Given the description of an element on the screen output the (x, y) to click on. 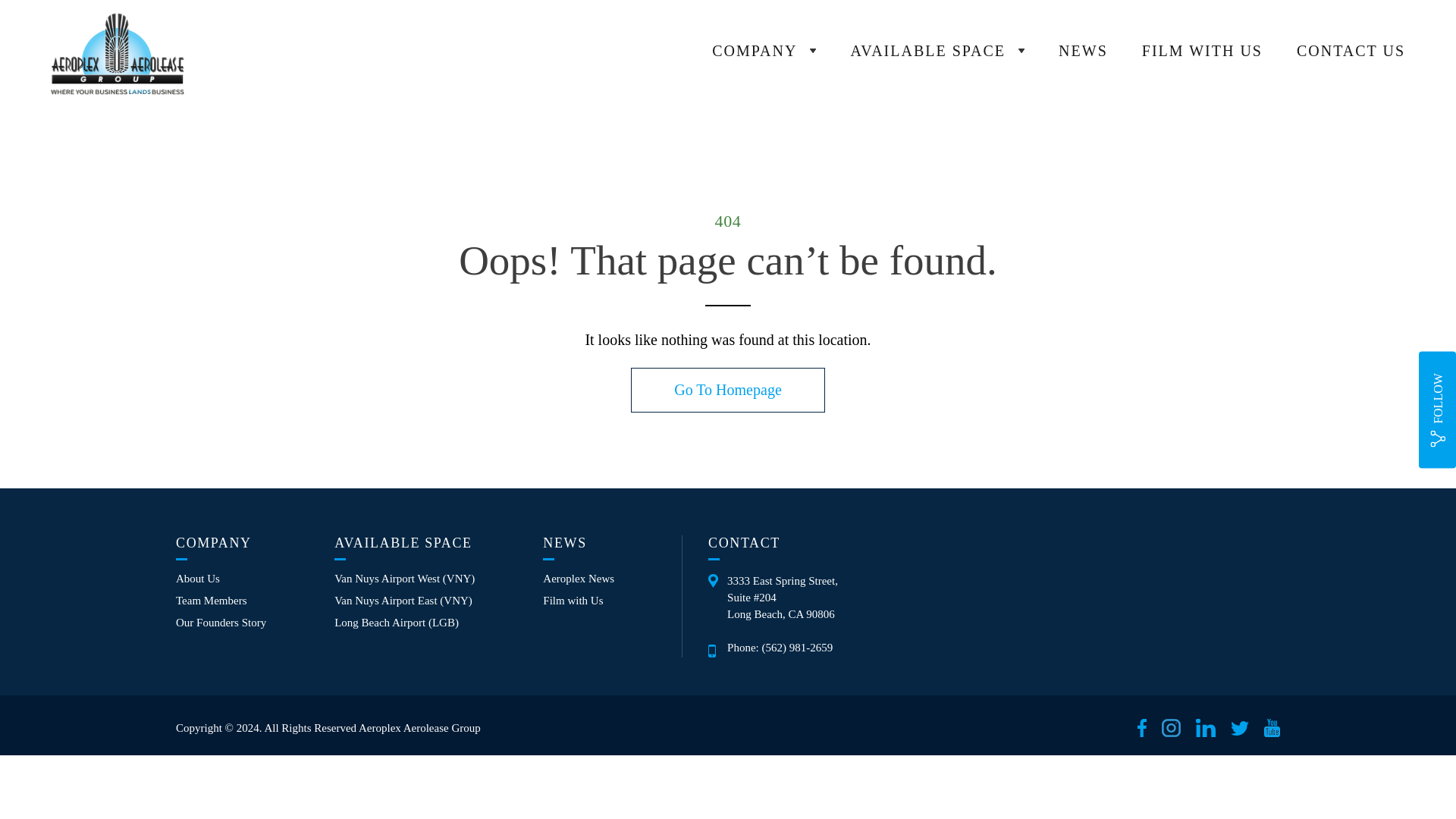
About Us (197, 578)
AVAILABLE SPACE (937, 50)
NEWS (1083, 50)
FILM WITH US (1201, 50)
CONTACT US (1351, 50)
COMPANY (763, 50)
Team Members (211, 600)
Aeroplex News (578, 578)
Film with Us (572, 600)
Go To Homepage (727, 389)
Our Founders Story (221, 622)
